Given the description of an element on the screen output the (x, y) to click on. 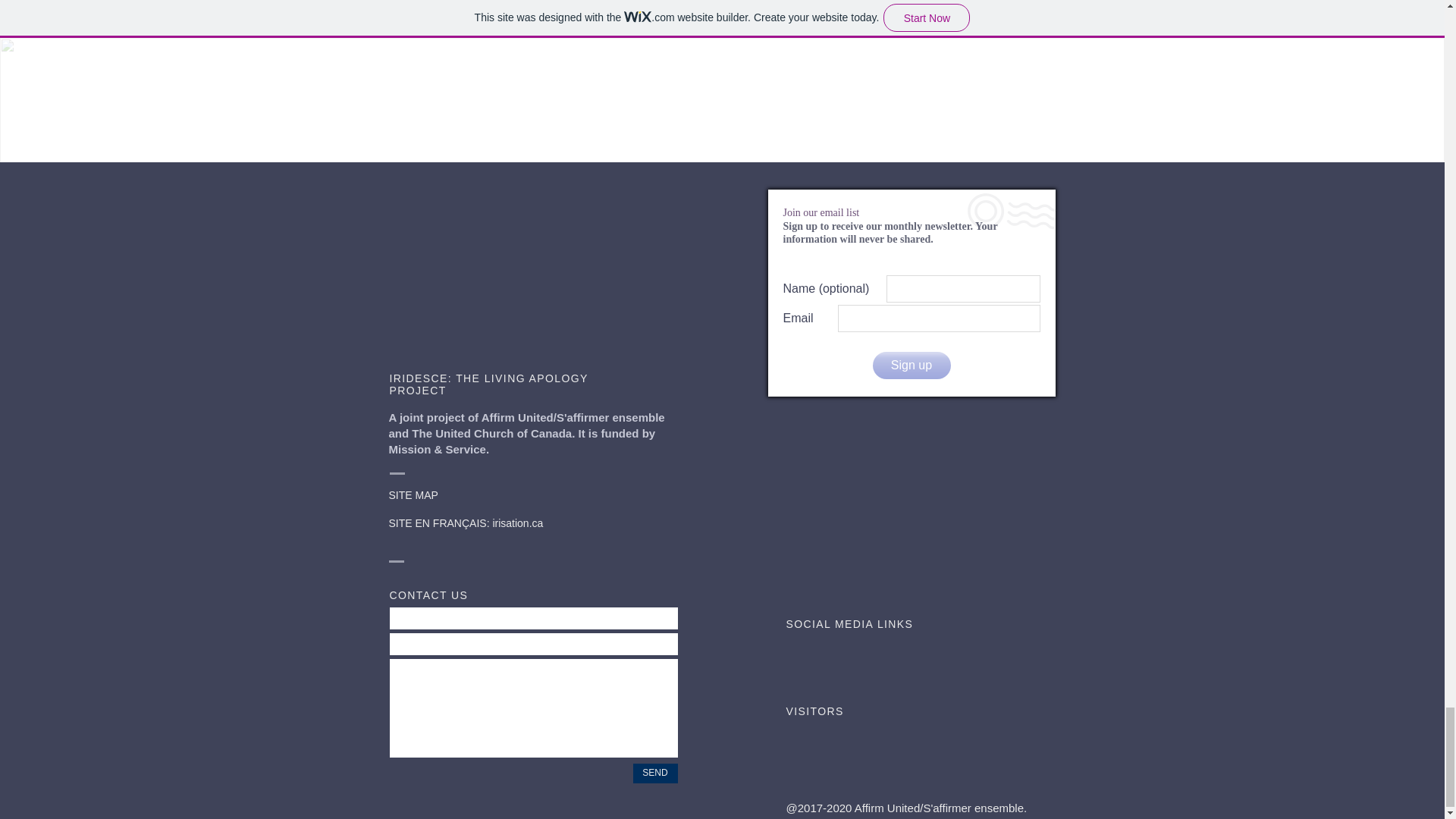
SEND (654, 772)
Sign up (911, 365)
SITE MAP (413, 494)
